Given the description of an element on the screen output the (x, y) to click on. 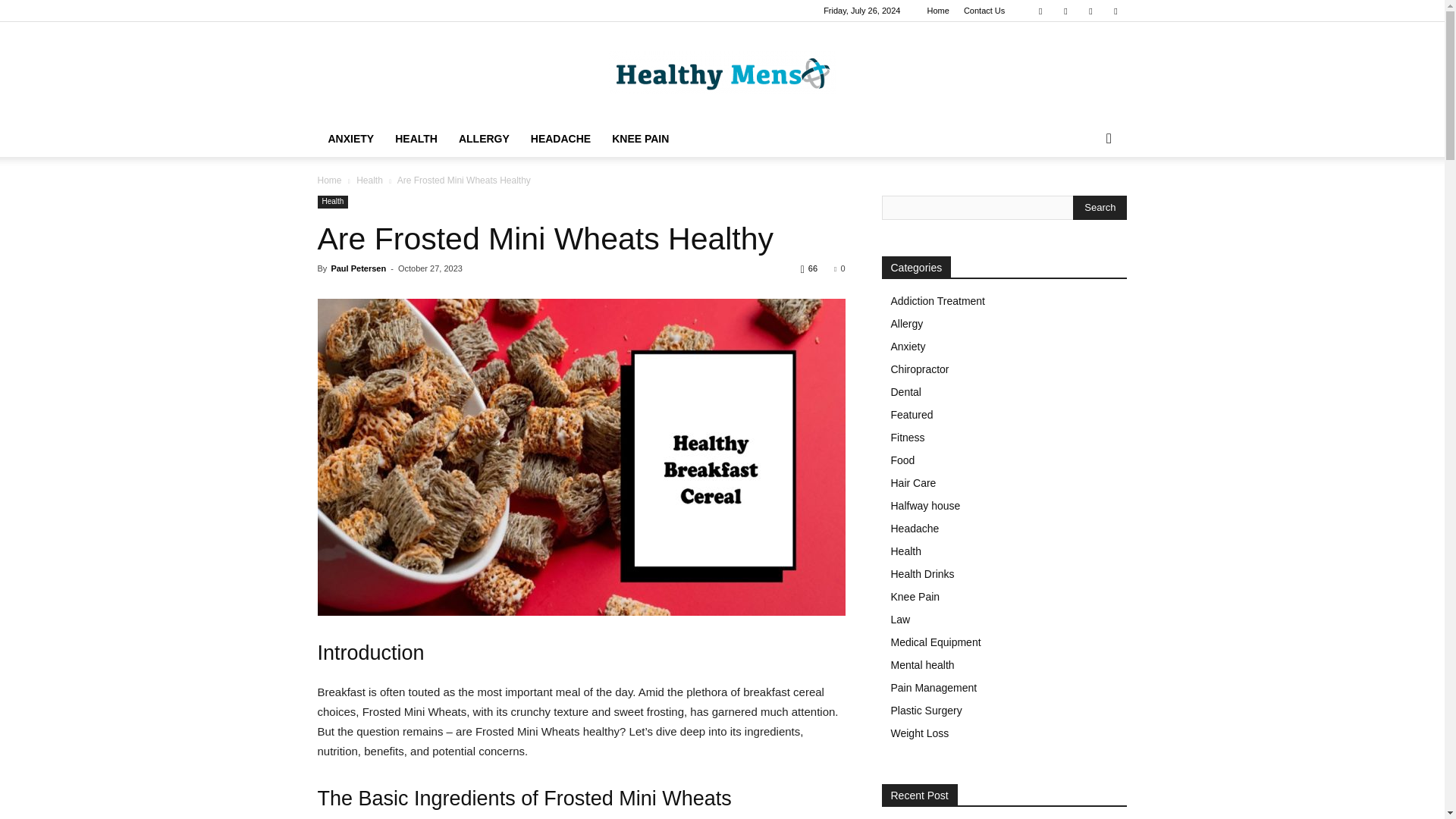
Home (937, 10)
Facebook (1040, 10)
Health (369, 180)
Search (1085, 199)
KNEE PAIN (640, 138)
0 (839, 267)
ANXIETY (350, 138)
View all posts in Health (369, 180)
ALLERGY (483, 138)
Search (1099, 207)
Pinterest (1090, 10)
Healthy Mens (721, 72)
Twitter (1114, 10)
HEADACHE (560, 138)
